Given the description of an element on the screen output the (x, y) to click on. 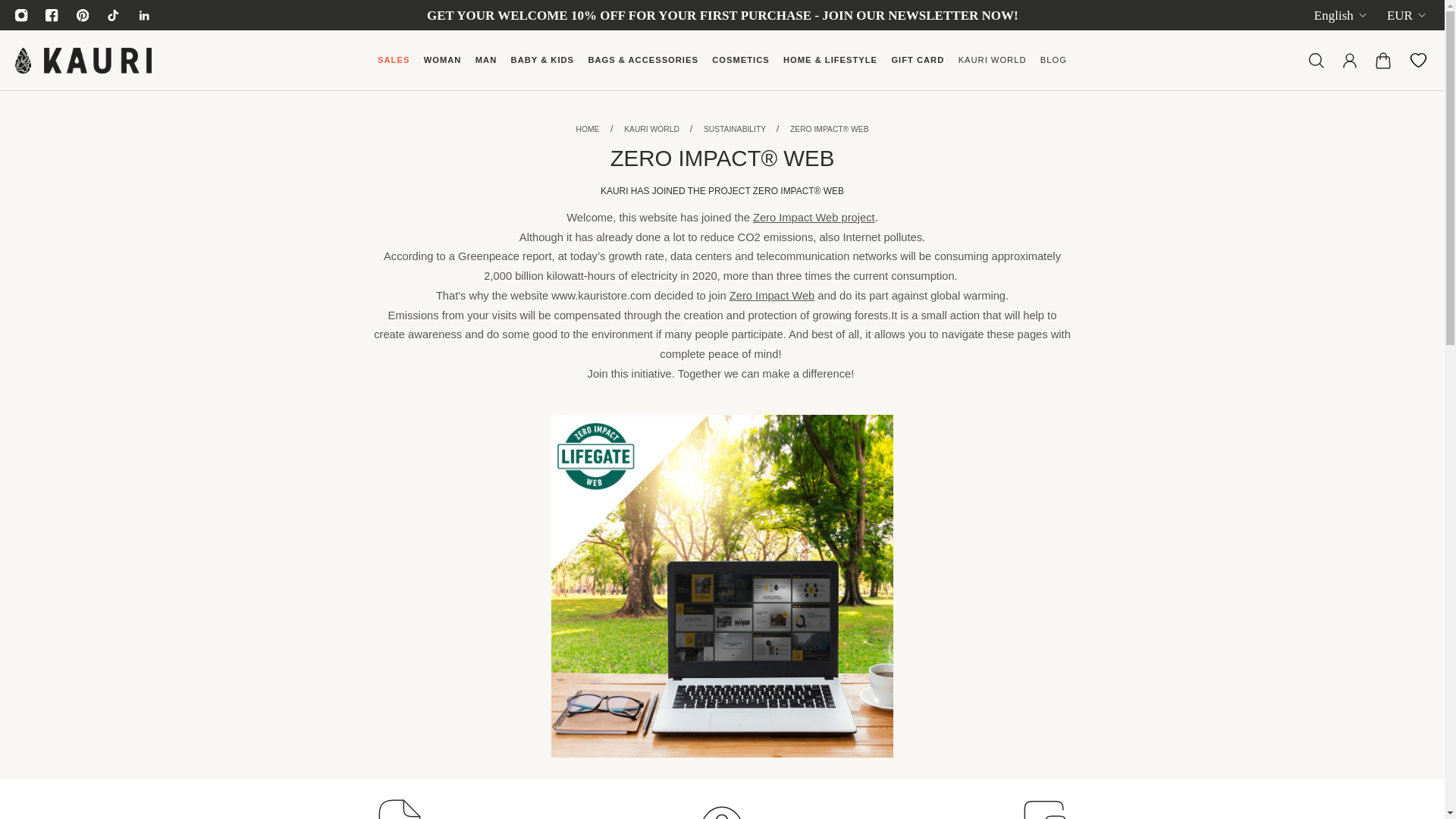
Home (586, 129)
BLOG (1053, 67)
Zero Impact Web (772, 295)
MAN (485, 67)
WOMAN (442, 67)
COSMETICS (740, 67)
GIFT CARD (916, 67)
HOME (586, 129)
Zero Impact Web project (813, 217)
SUSTAINABILITY (735, 129)
